Given the description of an element on the screen output the (x, y) to click on. 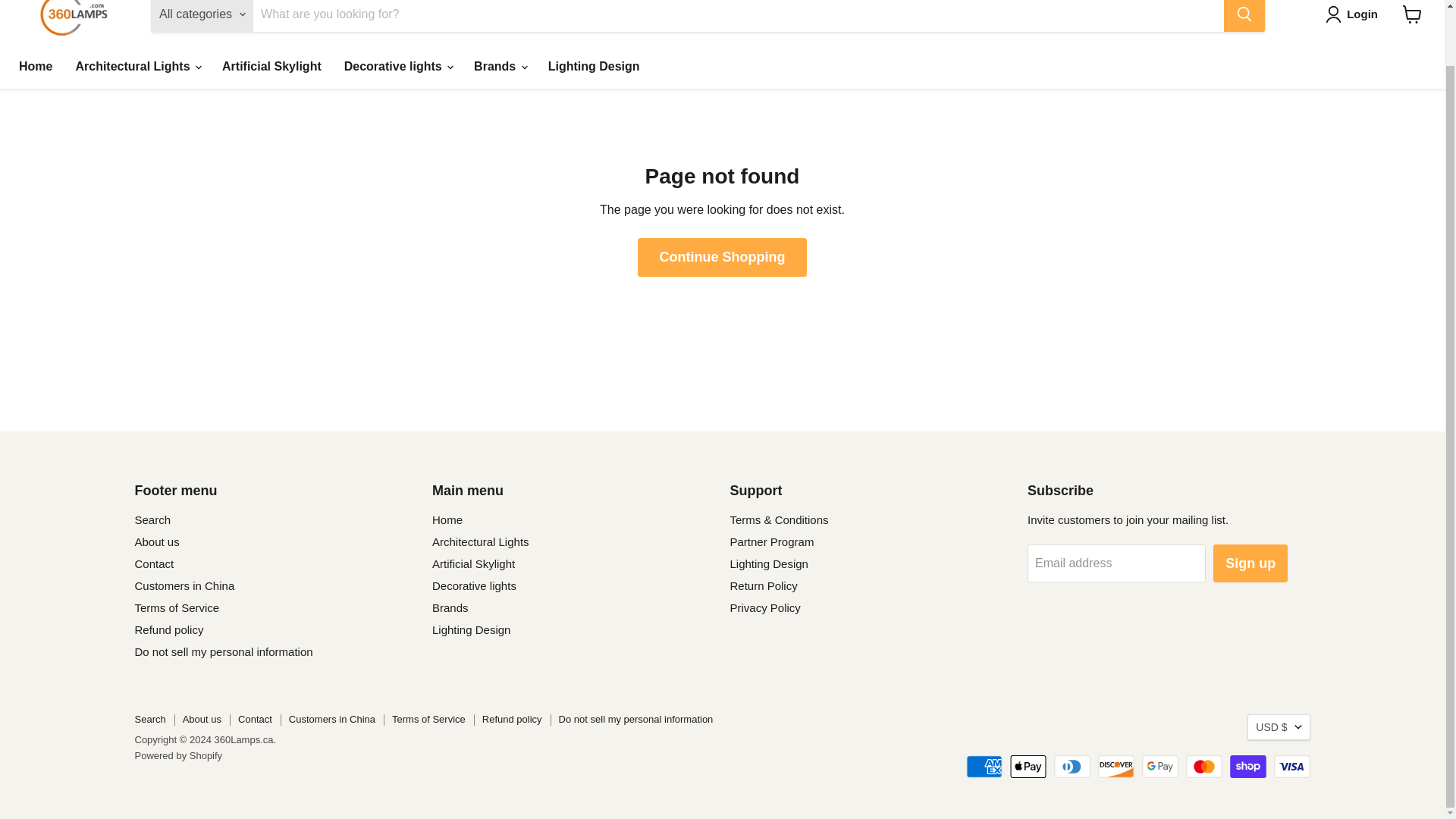
American Express (984, 766)
Shop Pay (1248, 766)
Discover (1115, 766)
Visa (1292, 766)
Google Pay (1159, 766)
Apple Pay (1028, 766)
Diners Club (1072, 766)
Mastercard (1204, 766)
